Given the description of an element on the screen output the (x, y) to click on. 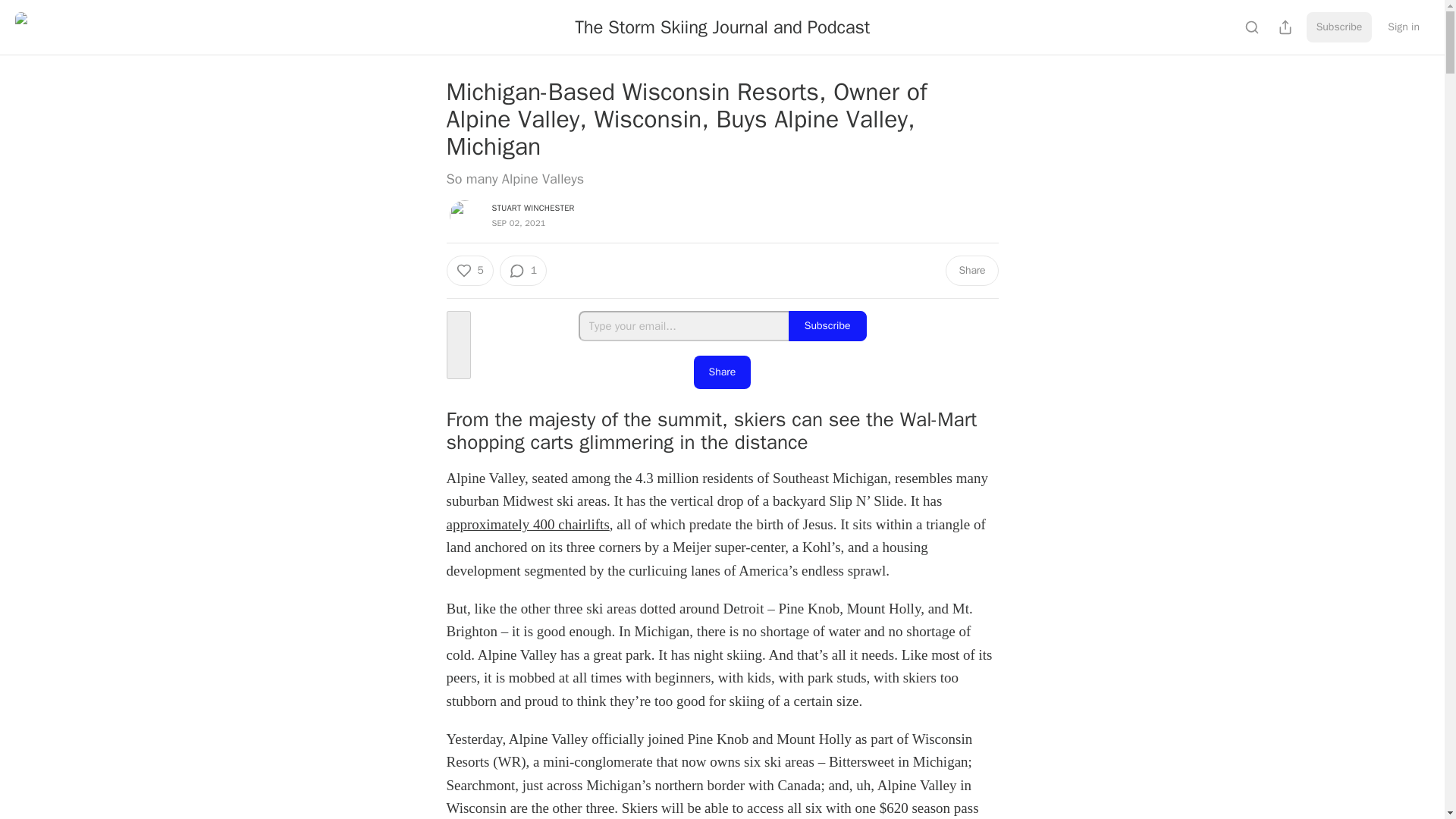
1 (523, 270)
Sign in (1403, 27)
approximately 400 chairlifts (526, 524)
Subscribe (827, 326)
Share (970, 270)
Share (722, 372)
The Storm Skiing Journal and Podcast (722, 26)
Subscribe (1339, 27)
STUART WINCHESTER (532, 207)
5 (469, 270)
